Given the description of an element on the screen output the (x, y) to click on. 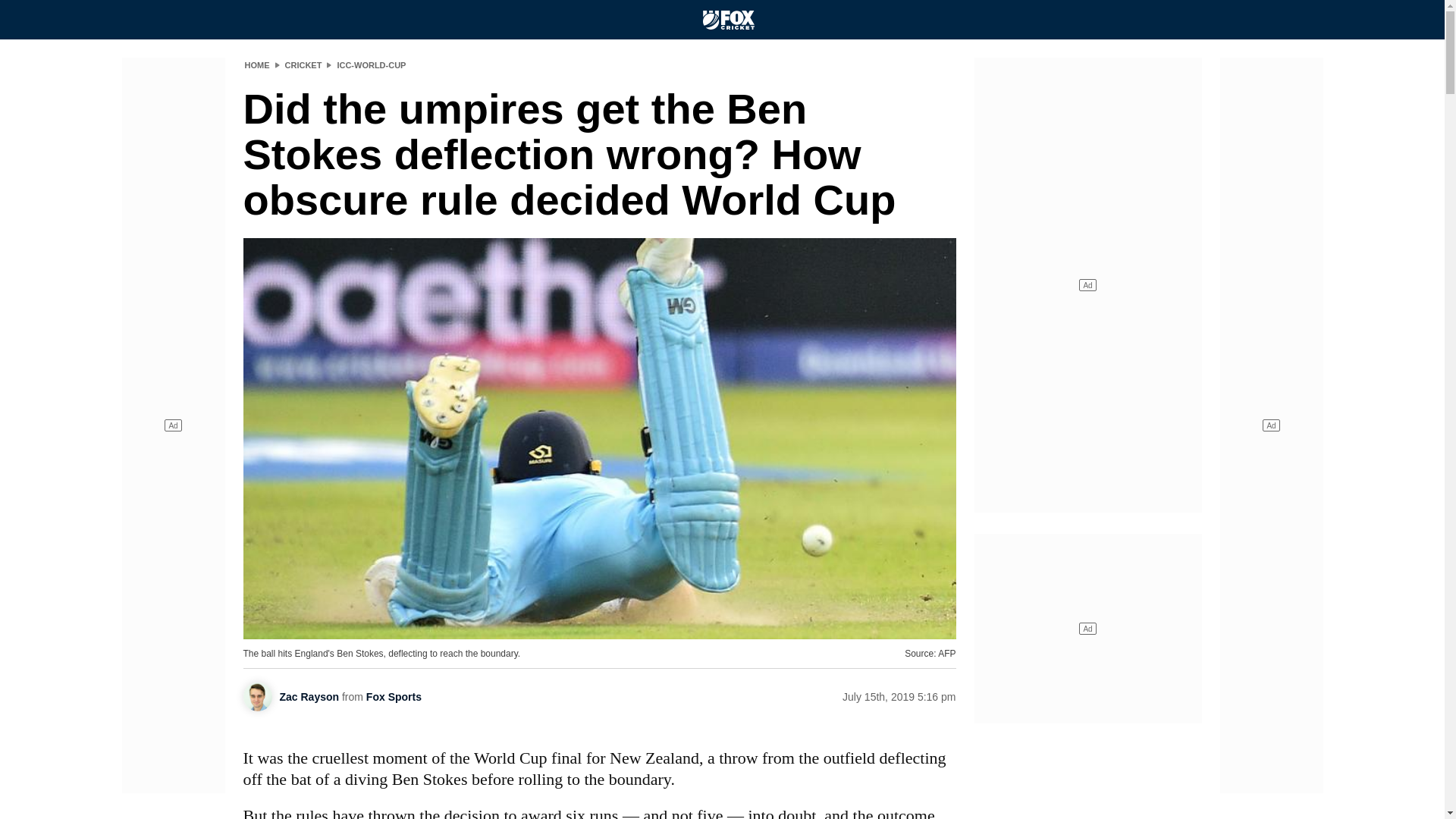
CRICKET (303, 64)
HOME (256, 64)
ICC-WORLD-CUP (370, 64)
